Given the description of an element on the screen output the (x, y) to click on. 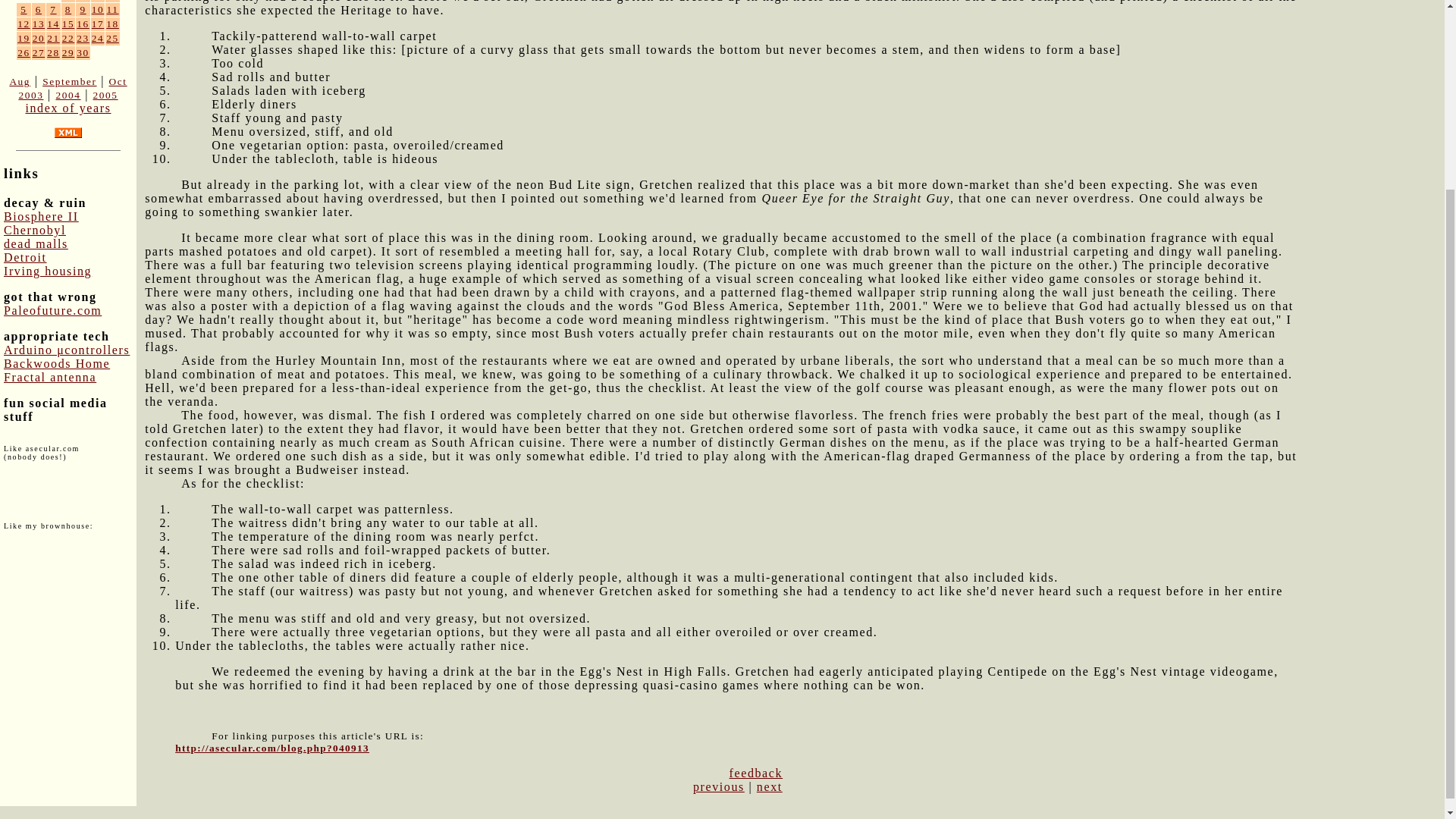
12 (23, 23)
24 (97, 38)
29 (68, 52)
2005 (105, 94)
20 (38, 38)
15 (68, 23)
index of years (67, 107)
17 (97, 23)
